Given the description of an element on the screen output the (x, y) to click on. 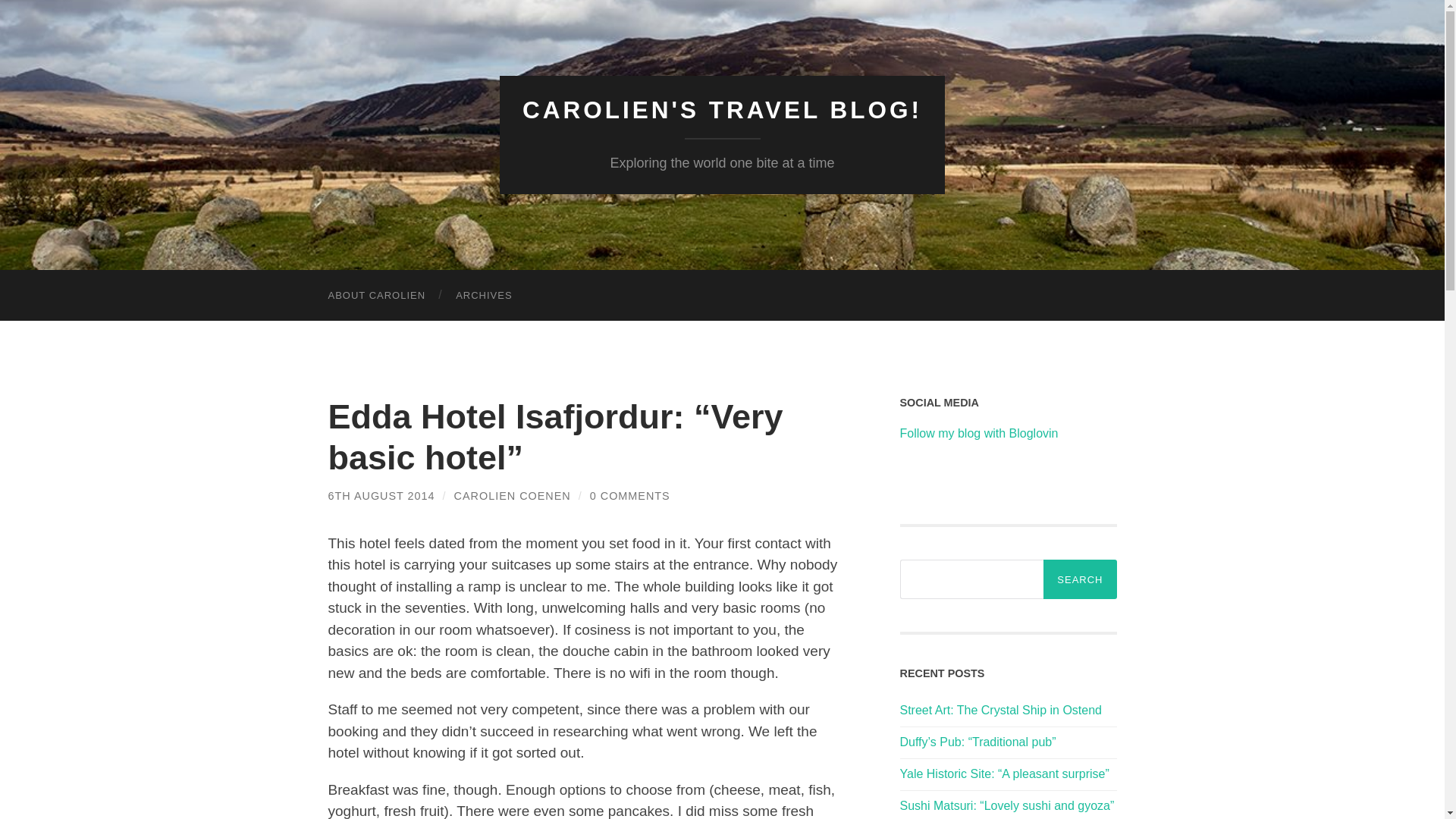
Posts by Carolien Coenen (512, 495)
Street Art: The Crystal Ship in Ostend (1000, 709)
Search (1079, 578)
CAROLIEN'S TRAVEL BLOG! (721, 109)
CAROLIEN COENEN (512, 495)
Search (1079, 578)
0 COMMENTS (629, 495)
Follow my blog with Bloglovin (978, 432)
ABOUT CAROLIEN (377, 295)
6TH AUGUST 2014 (380, 495)
ARCHIVES (484, 295)
